Given the description of an element on the screen output the (x, y) to click on. 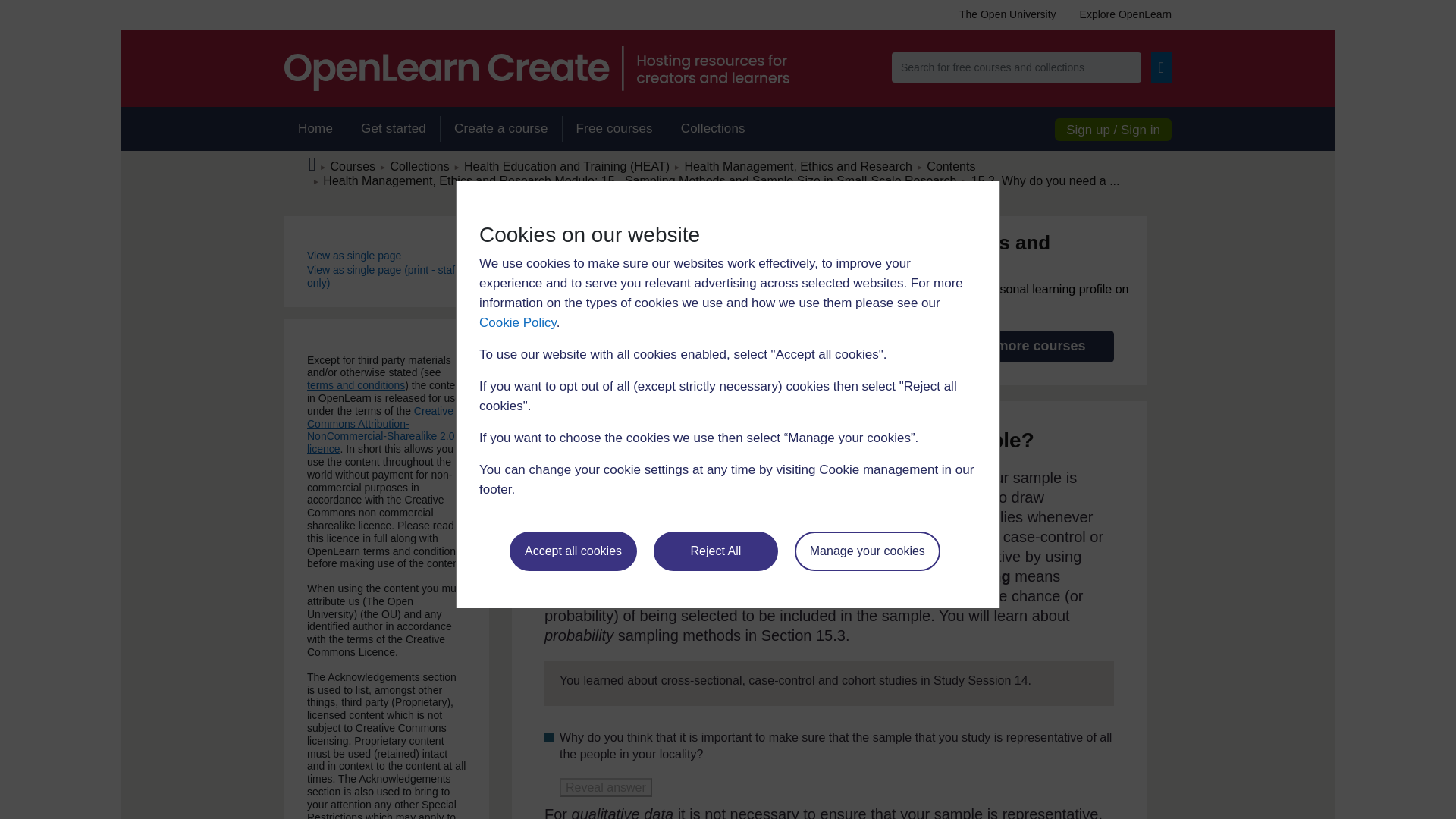
Collections (712, 128)
OpenLearn Create (536, 67)
Reject All (715, 550)
Get started (392, 128)
Home (314, 128)
Manage your cookies (867, 550)
Cookie Policy (517, 322)
The Open University (1007, 14)
Free courses (614, 128)
The Open University (1007, 14)
SC Web Editor (639, 180)
Create a course (500, 128)
Explore OpenLearn (1119, 14)
Accept all cookies (573, 550)
Explore OpenLearn (1119, 14)
